Given the description of an element on the screen output the (x, y) to click on. 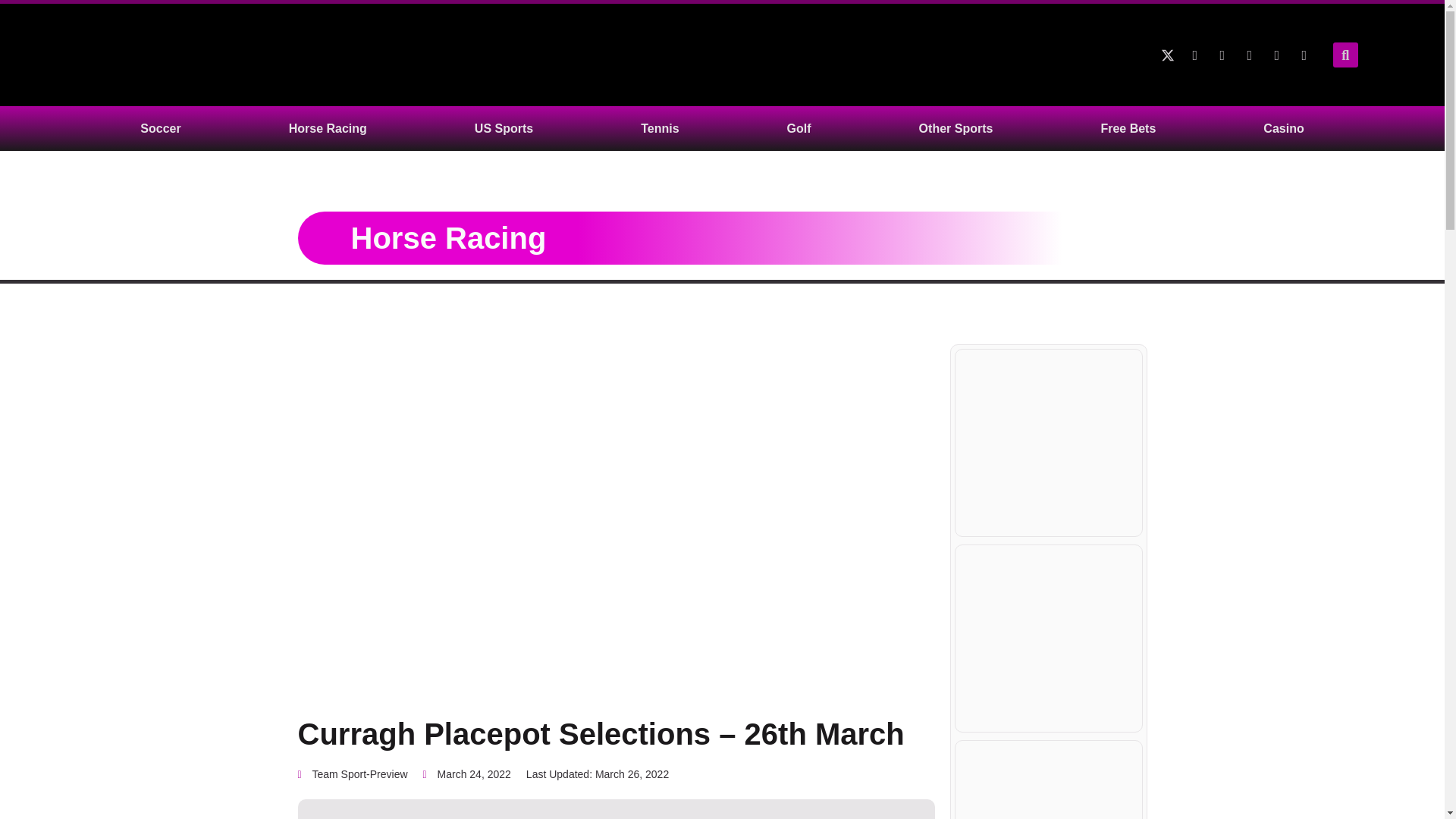
Soccer (159, 128)
Horse Racing (448, 237)
Free Bets (1127, 128)
US Sports (503, 128)
Casino (1282, 128)
Horse Racing (327, 128)
Team Sport-Preview (352, 774)
Tennis (659, 128)
Golf (798, 128)
Other Sports (955, 128)
